Given the description of an element on the screen output the (x, y) to click on. 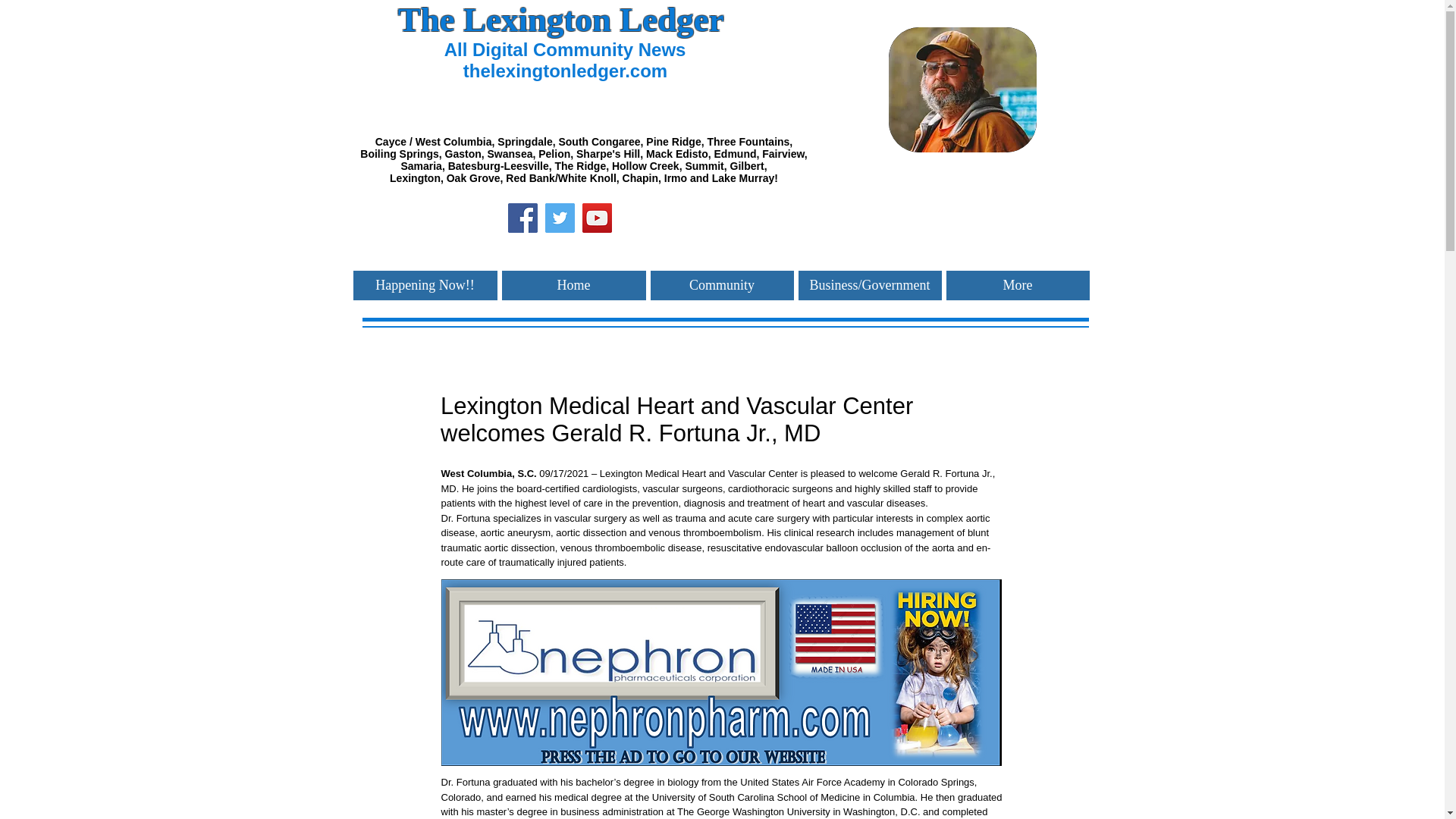
Happening Now!! (425, 285)
Home (574, 285)
Community (721, 285)
